Given the description of an element on the screen output the (x, y) to click on. 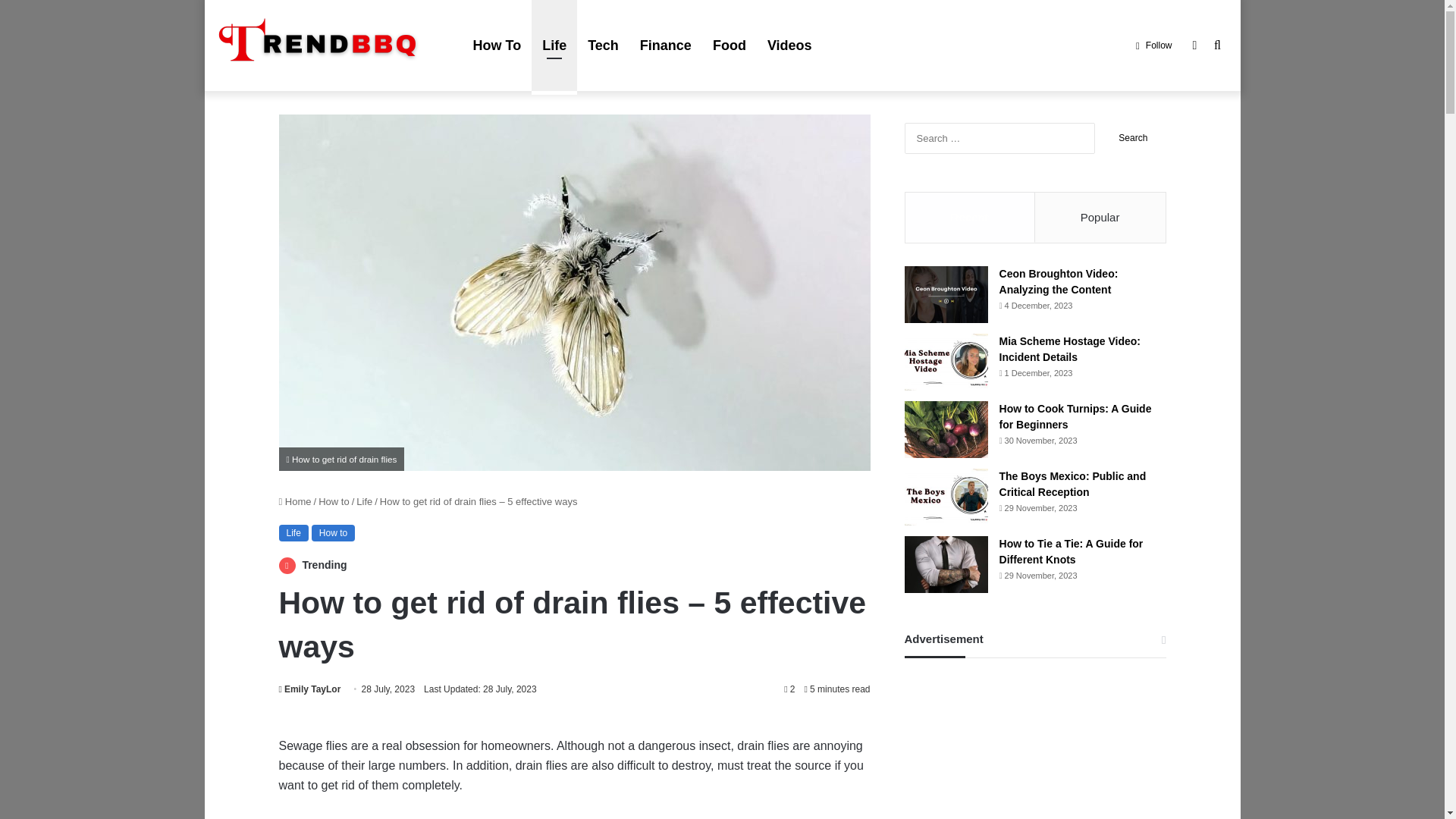
How to (333, 501)
Trendbbq (328, 45)
Emily TayLor (309, 688)
Life (293, 532)
Life (364, 501)
Home (295, 501)
Search (1133, 137)
How to (333, 532)
Search (1133, 137)
